Given the description of an element on the screen output the (x, y) to click on. 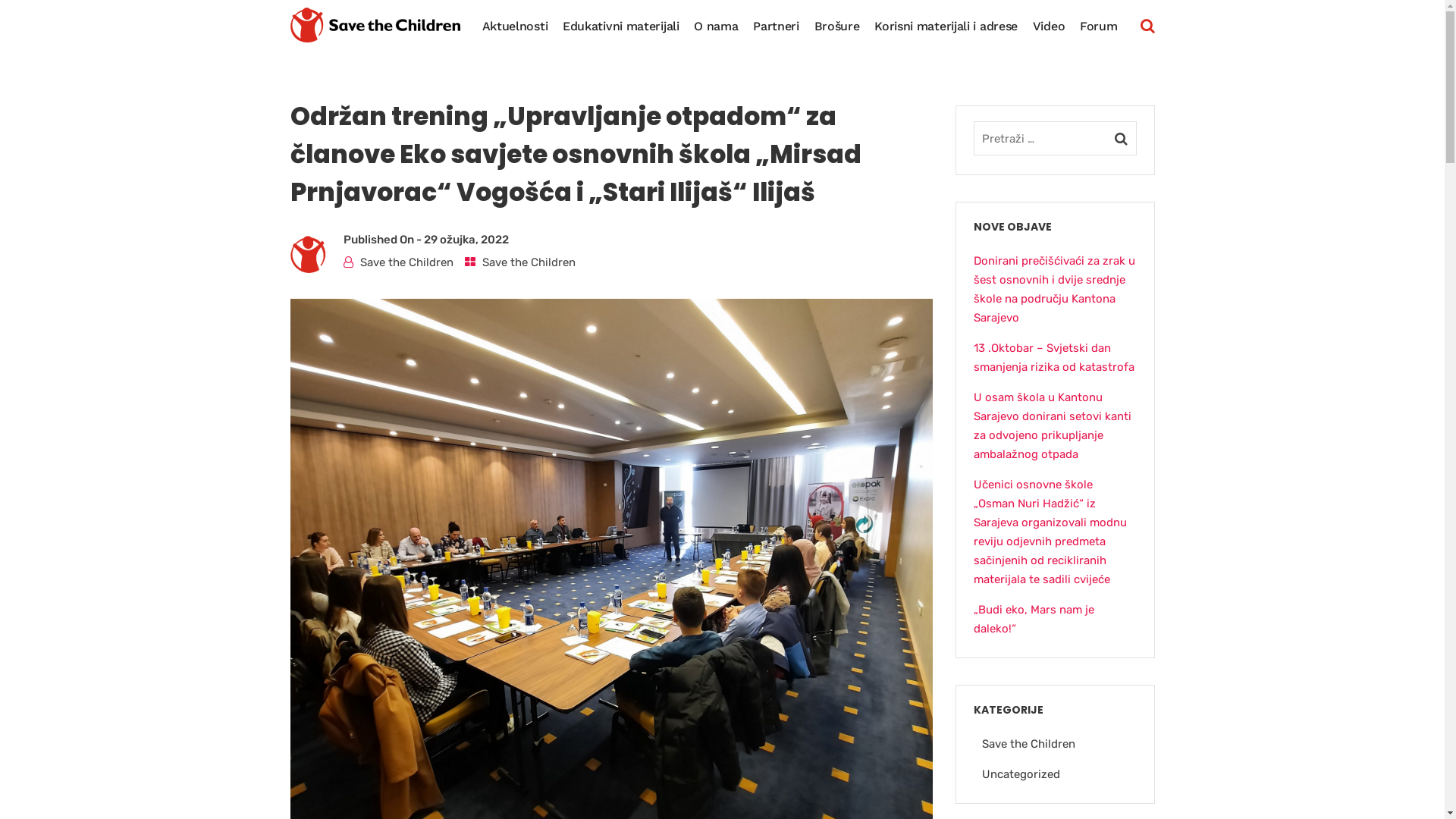
Video Element type: text (1048, 26)
Uncategorized Element type: text (1021, 774)
Save the Children Element type: text (528, 262)
Aktuelnosti Element type: text (515, 26)
Save the Children Element type: text (405, 262)
Forum Element type: text (1098, 26)
Partneri Element type: text (776, 26)
Korisni materijali i adrese Element type: text (945, 26)
Edukativni materijali Element type: text (620, 26)
Save the Children Element type: text (1028, 743)
O nama Element type: text (715, 26)
